Given the description of an element on the screen output the (x, y) to click on. 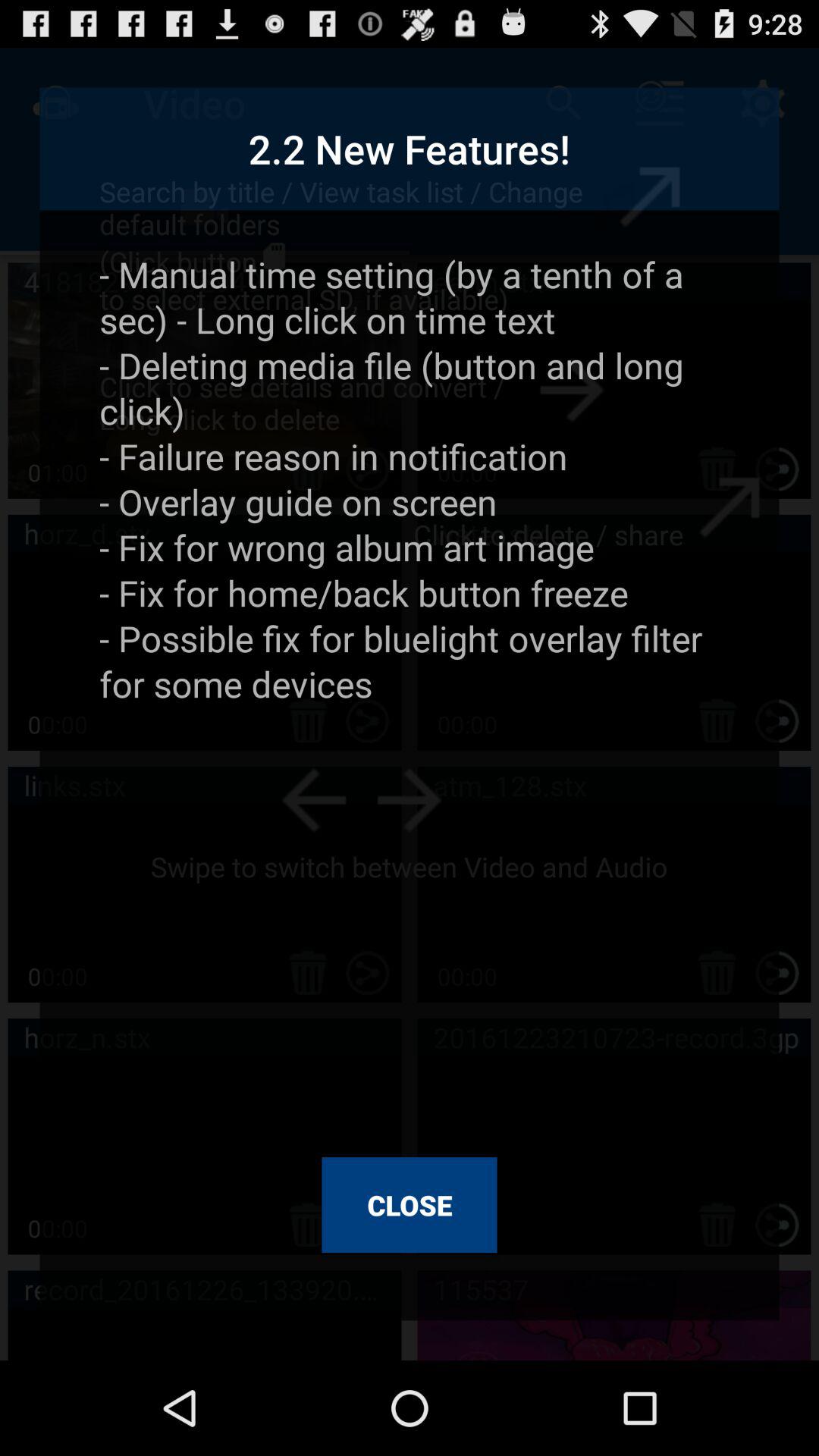
tap the manual time setting item (409, 693)
